Given the description of an element on the screen output the (x, y) to click on. 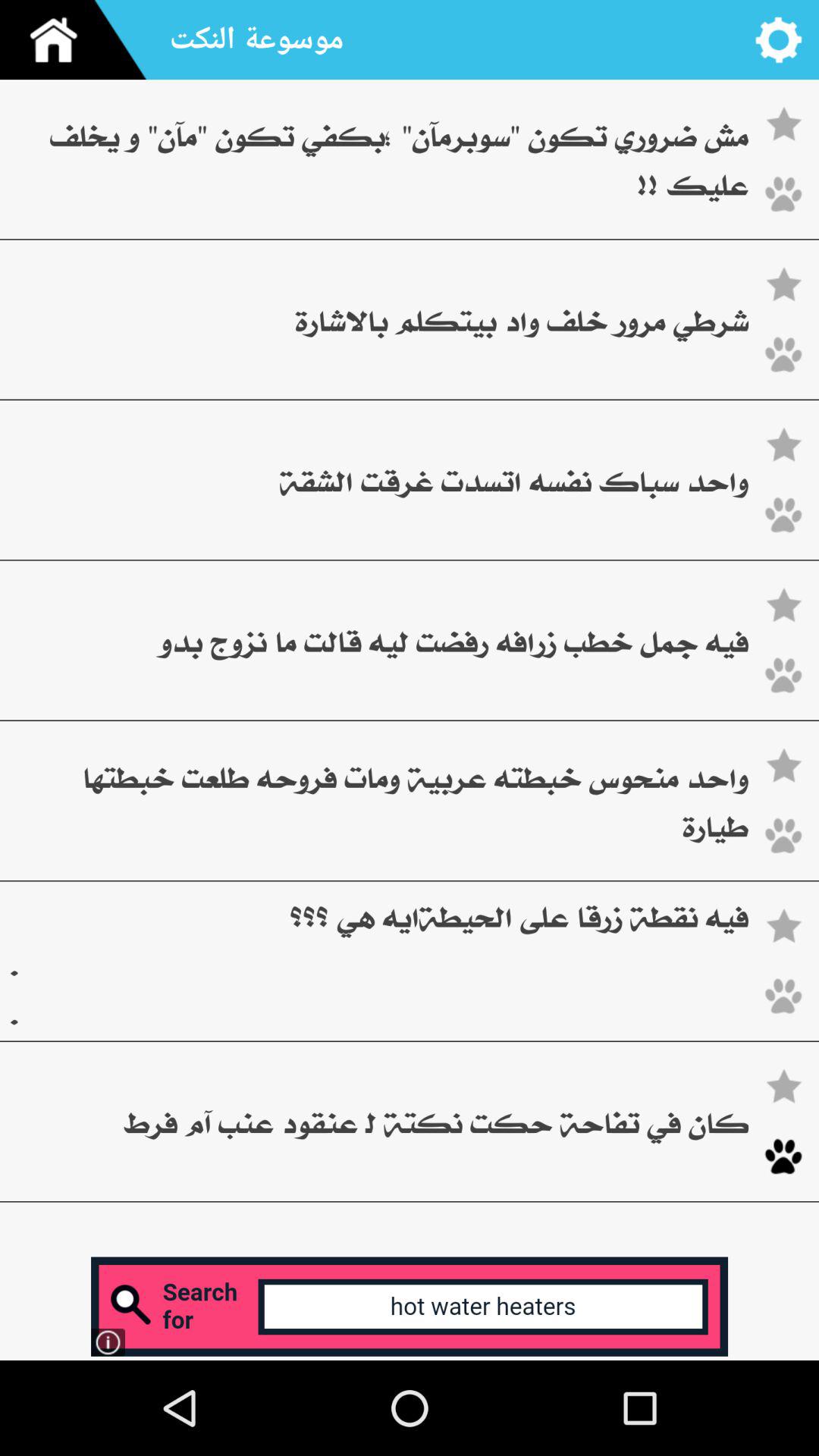
go to homepage (79, 39)
